Given the description of an element on the screen output the (x, y) to click on. 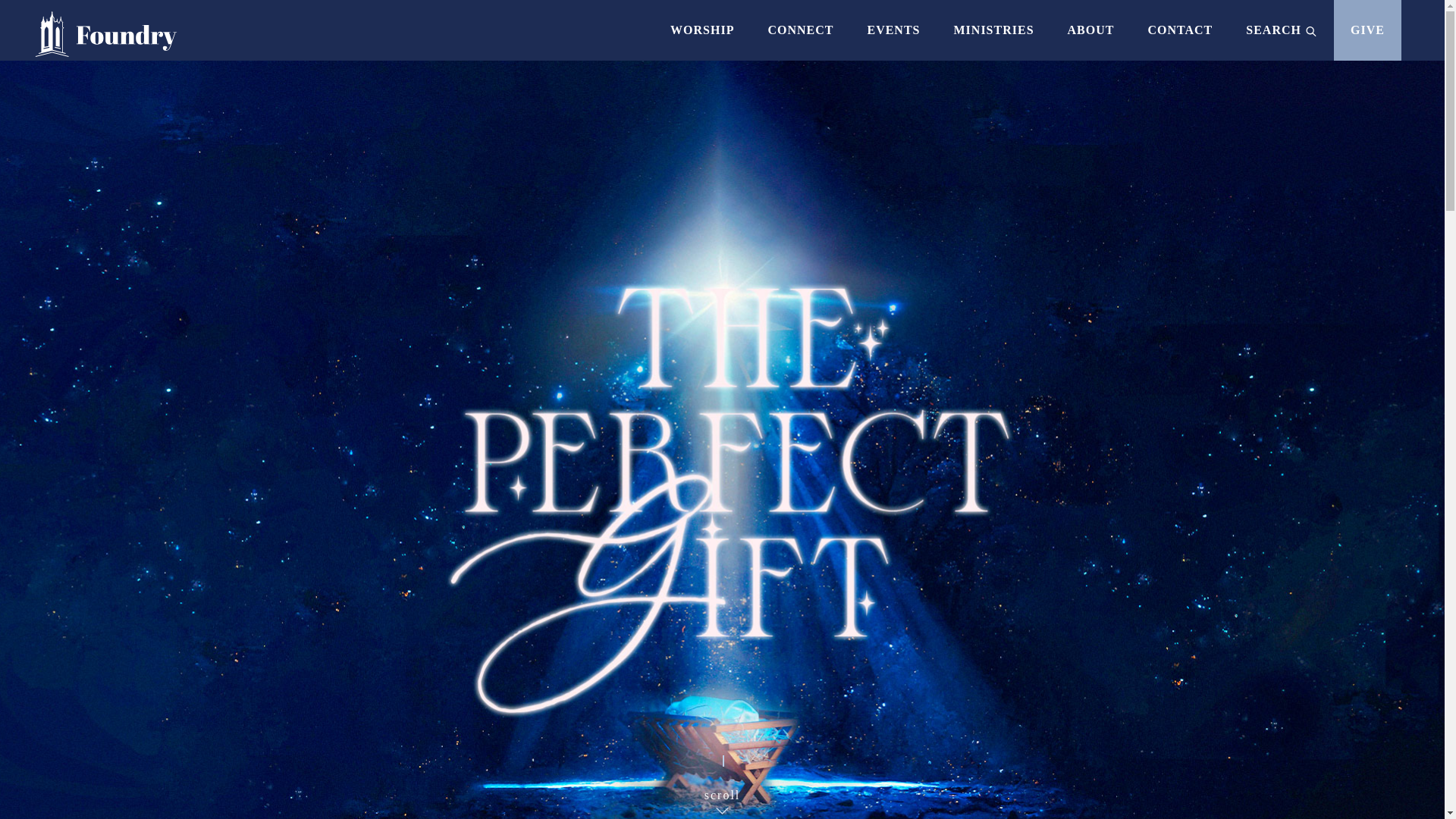
MINISTRIES (993, 30)
EVENTS (893, 30)
CONNECT (799, 30)
WORSHIP (701, 30)
